Given the description of an element on the screen output the (x, y) to click on. 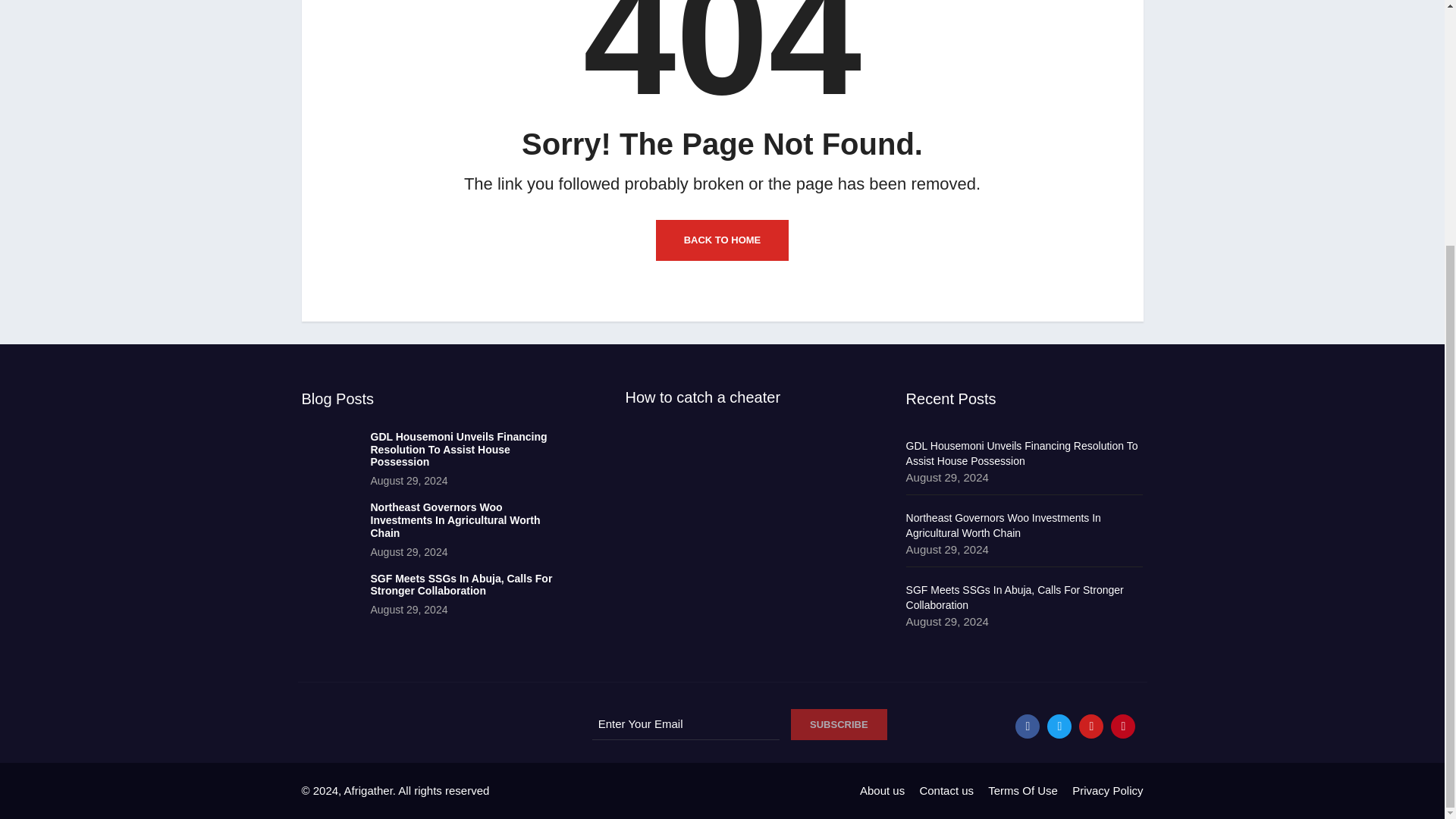
SGF Meets SSGs In Abuja, Calls For Stronger Collaboration (460, 584)
Terms Of Use (1023, 789)
SGF Meets SSGs In Abuja, Calls For Stronger Collaboration (329, 596)
SGF Meets SSGs In Abuja, Calls For Stronger Collaboration (460, 584)
Contact us (946, 789)
BACK TO HOME (722, 240)
